Given the description of an element on the screen output the (x, y) to click on. 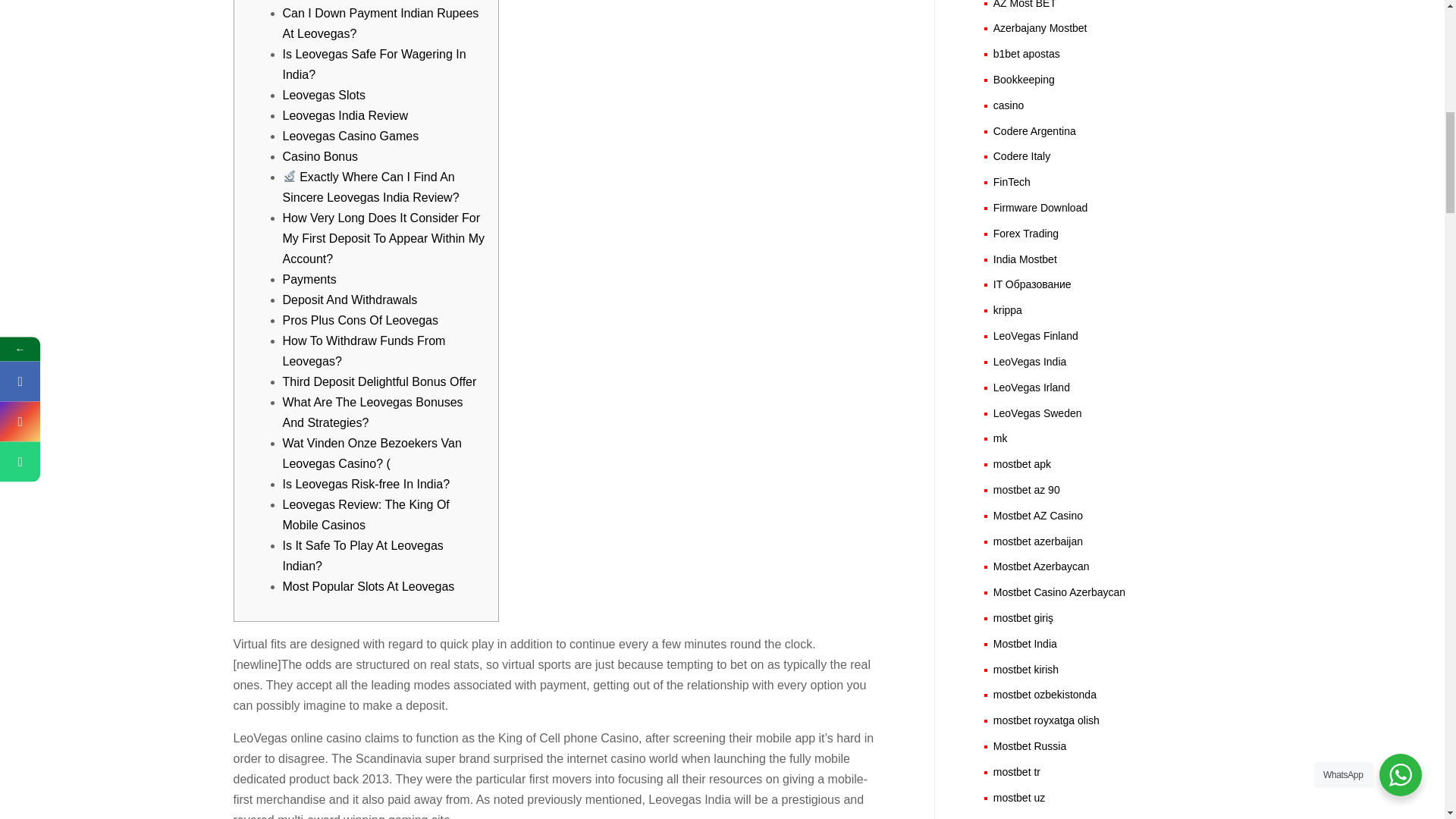
Leovegas Slots (323, 94)
Leovegas Casino Games (350, 135)
Casino Bonus (320, 155)
Leovegas India Review (344, 115)
Can I Down Payment Indian Rupees At Leovegas? (380, 23)
Is Leovegas Safe For Wagering In India? (373, 64)
